Given the description of an element on the screen output the (x, y) to click on. 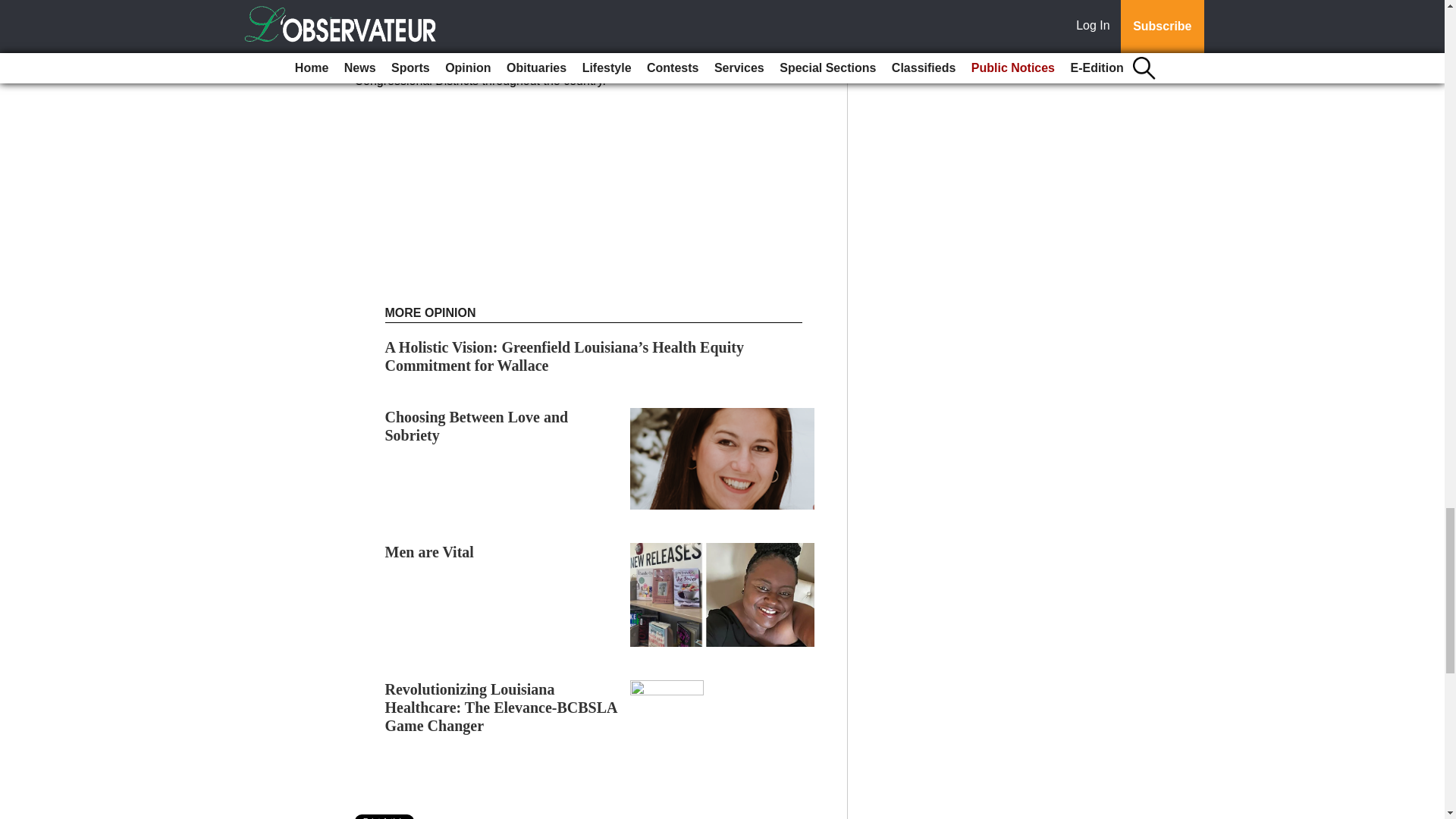
Choosing Between Love and Sobriety (477, 425)
www.amac.us (440, 25)
Men are Vital (429, 551)
Men are Vital (429, 551)
Choosing Between Love and Sobriety (477, 425)
Print Article (384, 816)
